Given the description of an element on the screen output the (x, y) to click on. 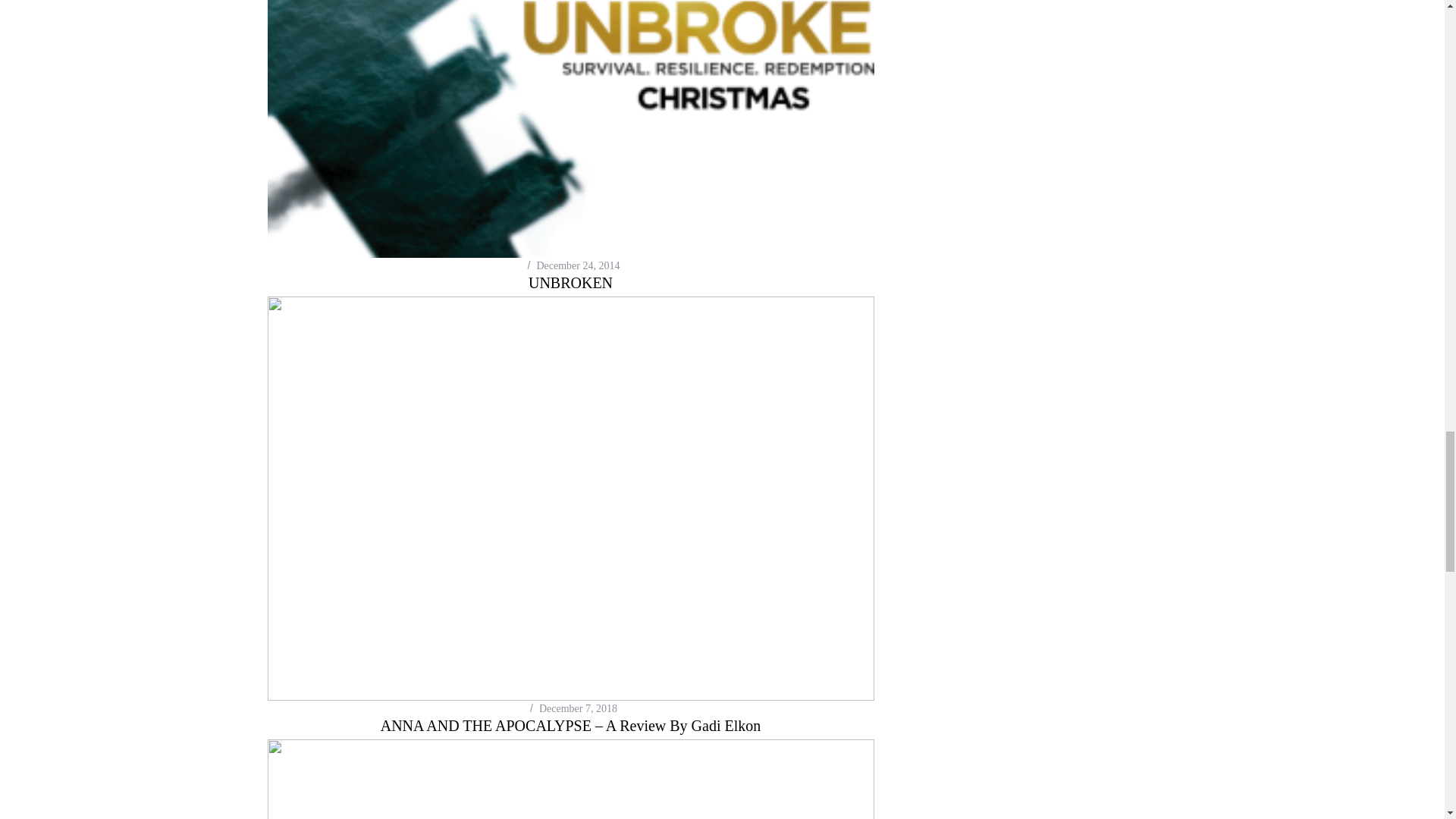
THE INFILTRATOR - A Review By Gadi Elkon 5 (569, 779)
